Given the description of an element on the screen output the (x, y) to click on. 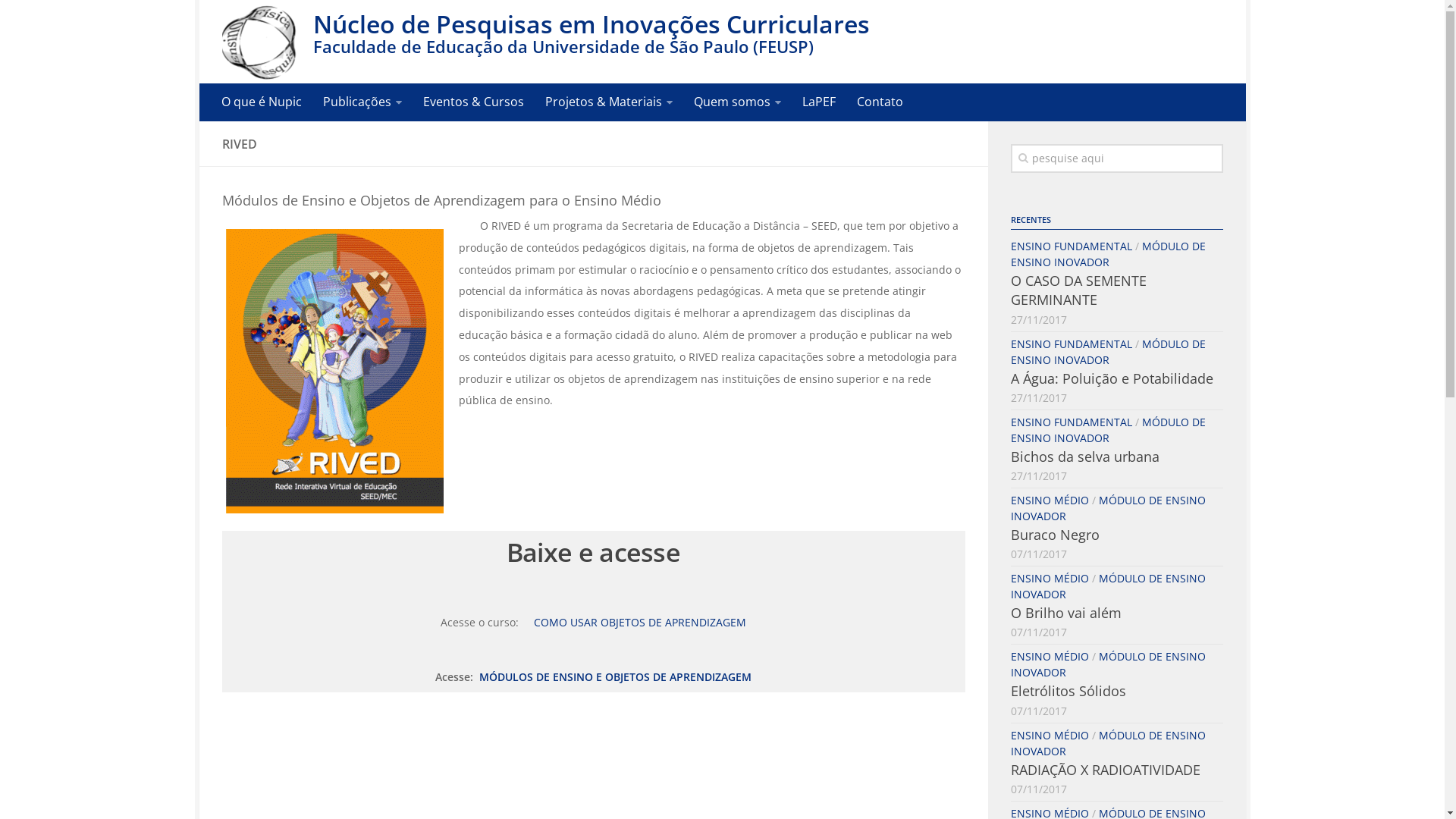
O CASO DA SEMENTE GERMINANTE Element type: text (1077, 289)
ENSINO FUNDAMENTAL Element type: text (1070, 245)
LaPEF Element type: text (818, 101)
Bichos da selva urbana Element type: text (1084, 456)
ENSINO FUNDAMENTAL Element type: text (1070, 343)
Buraco Negro Element type: text (1054, 534)
Quem somos Element type: text (736, 102)
COMO USAR OBJETOS DE APRENDIZAGEM Element type: text (639, 622)
Projetos & Materiais Element type: text (607, 102)
Contato Element type: text (879, 101)
Eventos & Cursos Element type: text (473, 101)
ENSINO FUNDAMENTAL Element type: text (1070, 421)
